Given the description of an element on the screen output the (x, y) to click on. 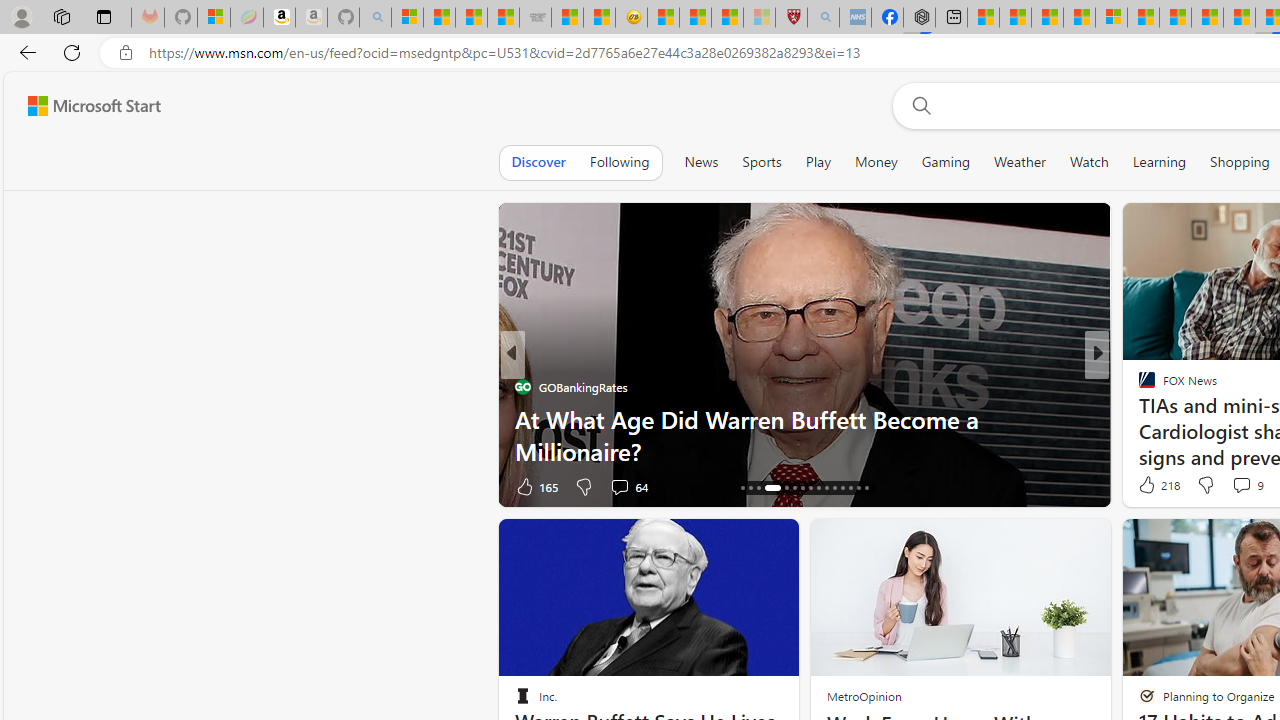
View comments 167 Comment (1247, 486)
38 Like (1149, 486)
HowToGeek (1138, 418)
View comments 104 Comment (1247, 486)
AutomationID: tab-21 (793, 487)
View comments 66 Comment (1244, 486)
oceanbluemarine (1176, 418)
MarketBeat (1138, 418)
